Given the description of an element on the screen output the (x, y) to click on. 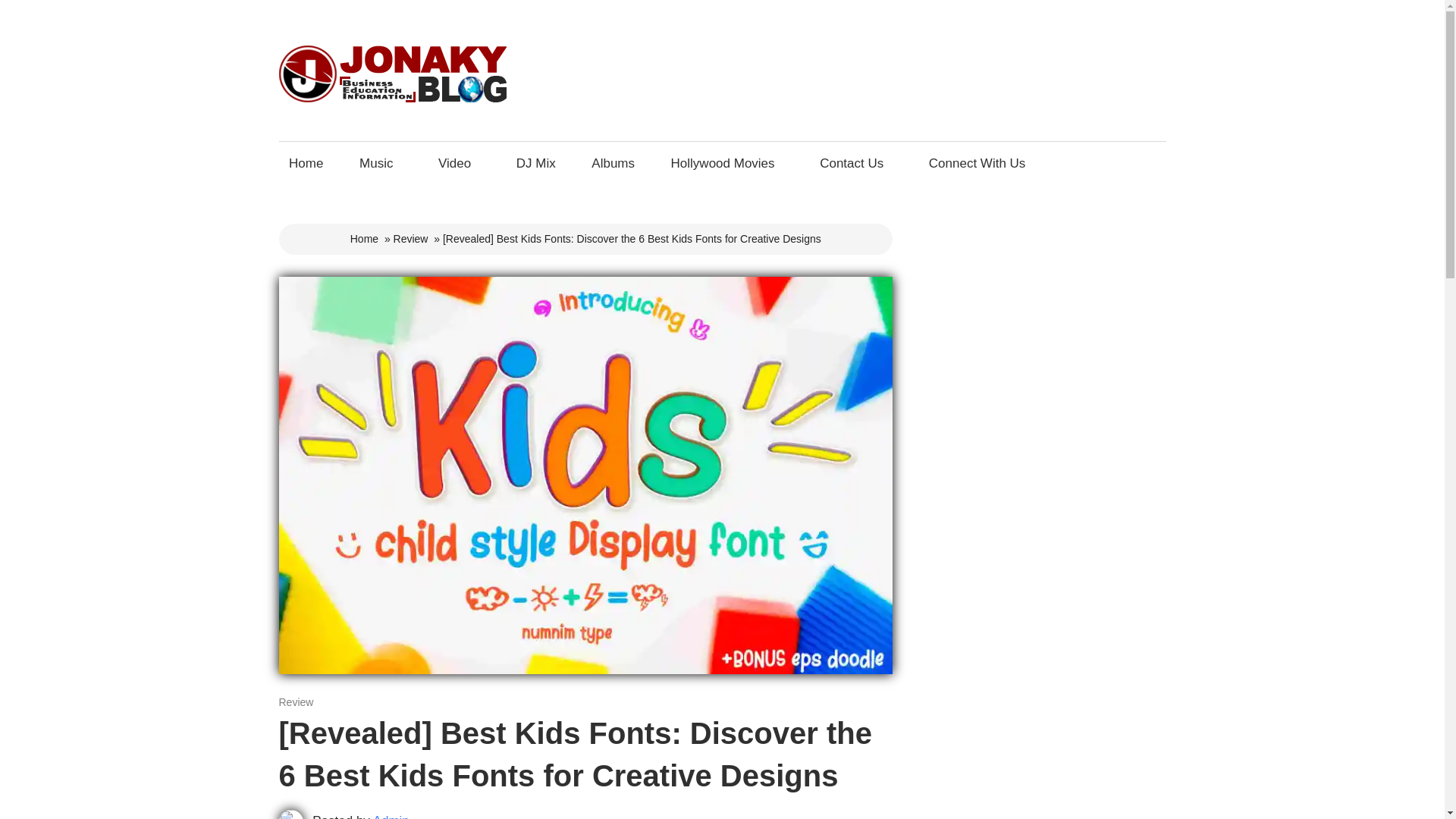
Review (296, 702)
Albums (612, 162)
Hollywood Movies (727, 162)
View all posts by Admin (390, 816)
Home (364, 238)
July 2, 2023 (307, 702)
Contact Us (855, 162)
Connect With Us (981, 162)
1:42 am (307, 702)
Video (458, 162)
Go to Home. (364, 238)
Review (410, 238)
Go to the Review category archives. (410, 238)
DJ Mix (535, 162)
Home (306, 162)
